Given the description of an element on the screen output the (x, y) to click on. 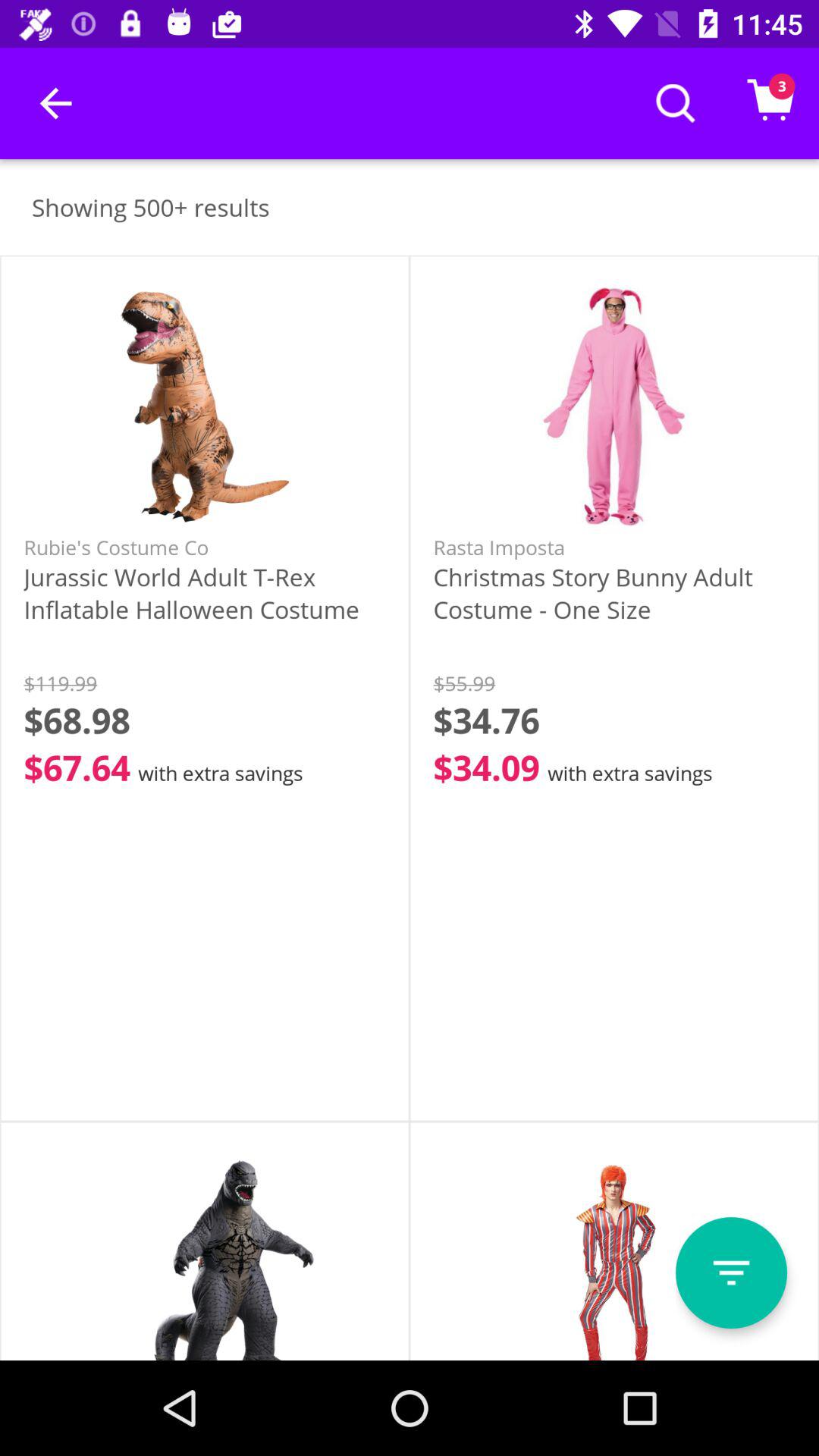
select the icon above the showing 500+ results (55, 103)
